Given the description of an element on the screen output the (x, y) to click on. 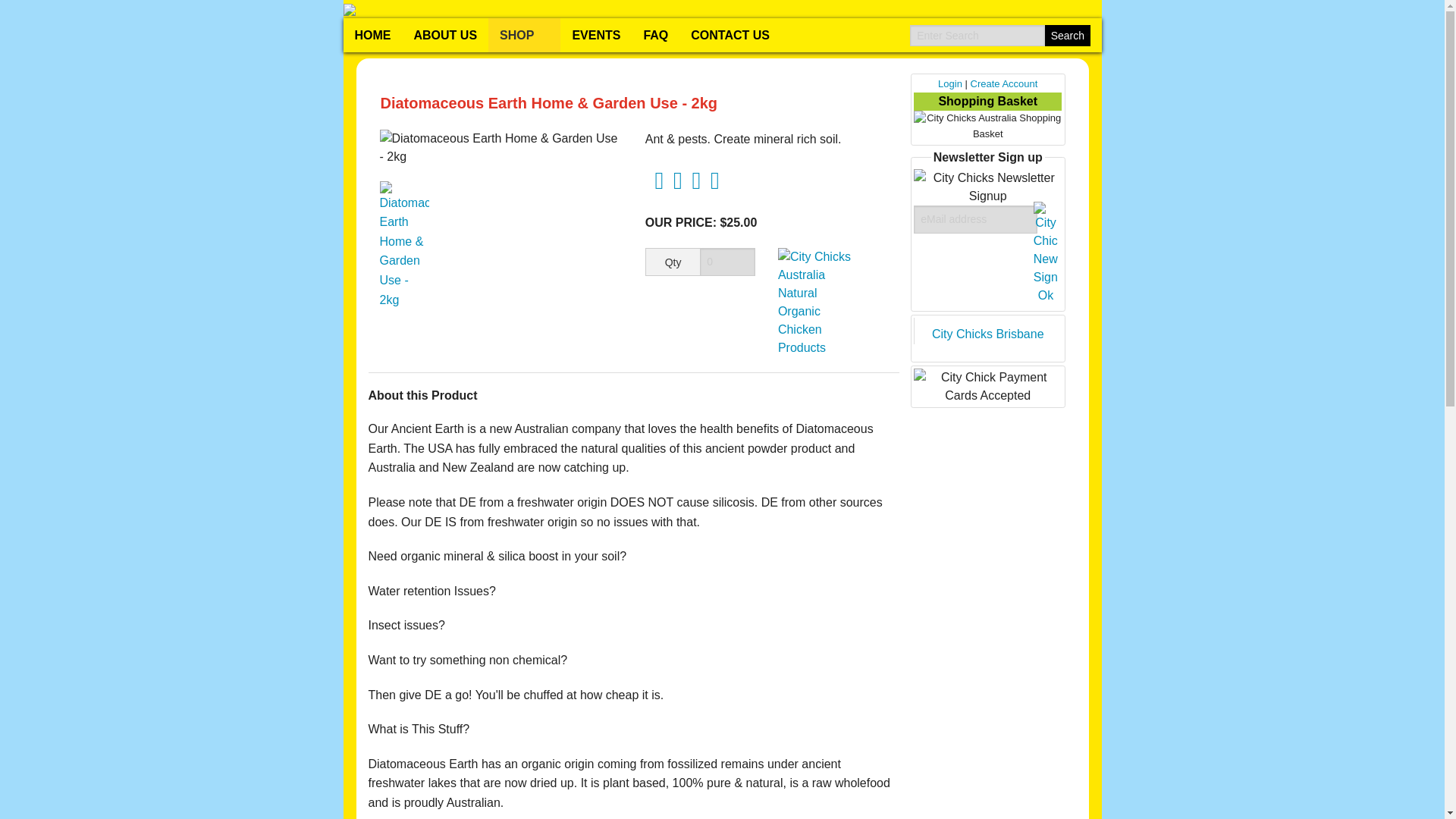
Brooders (673, 245)
Bedding (915, 294)
Good Health (430, 401)
Bantam Breeds (520, 269)
Diatomaceous Earth - Our Ancient Earth (718, 75)
SHOP (523, 35)
Chicken Feed (915, 257)
Search (1067, 34)
Natural Health (430, 413)
Feeders (915, 269)
Chicken Set Up (915, 245)
Chicken Essentials (960, 219)
No Crow Rooster Collars (960, 75)
HOME (371, 35)
Egg Laying Hybrids (520, 245)
